Given the description of an element on the screen output the (x, y) to click on. 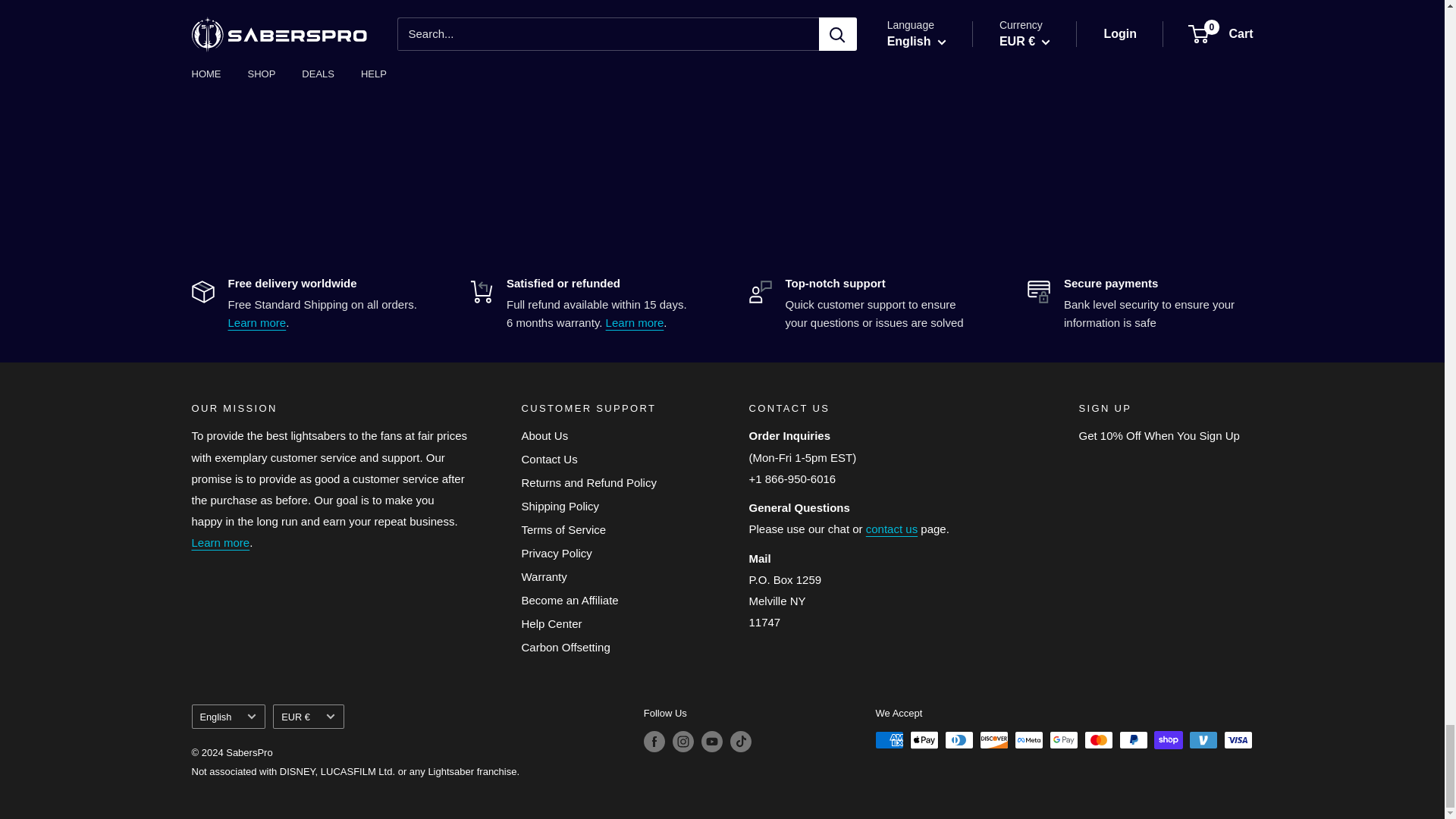
About Us (219, 542)
Refund Policy (634, 322)
Shipping Policy (256, 322)
Contact Us (891, 528)
YouTube video player (721, 103)
